Given the description of an element on the screen output the (x, y) to click on. 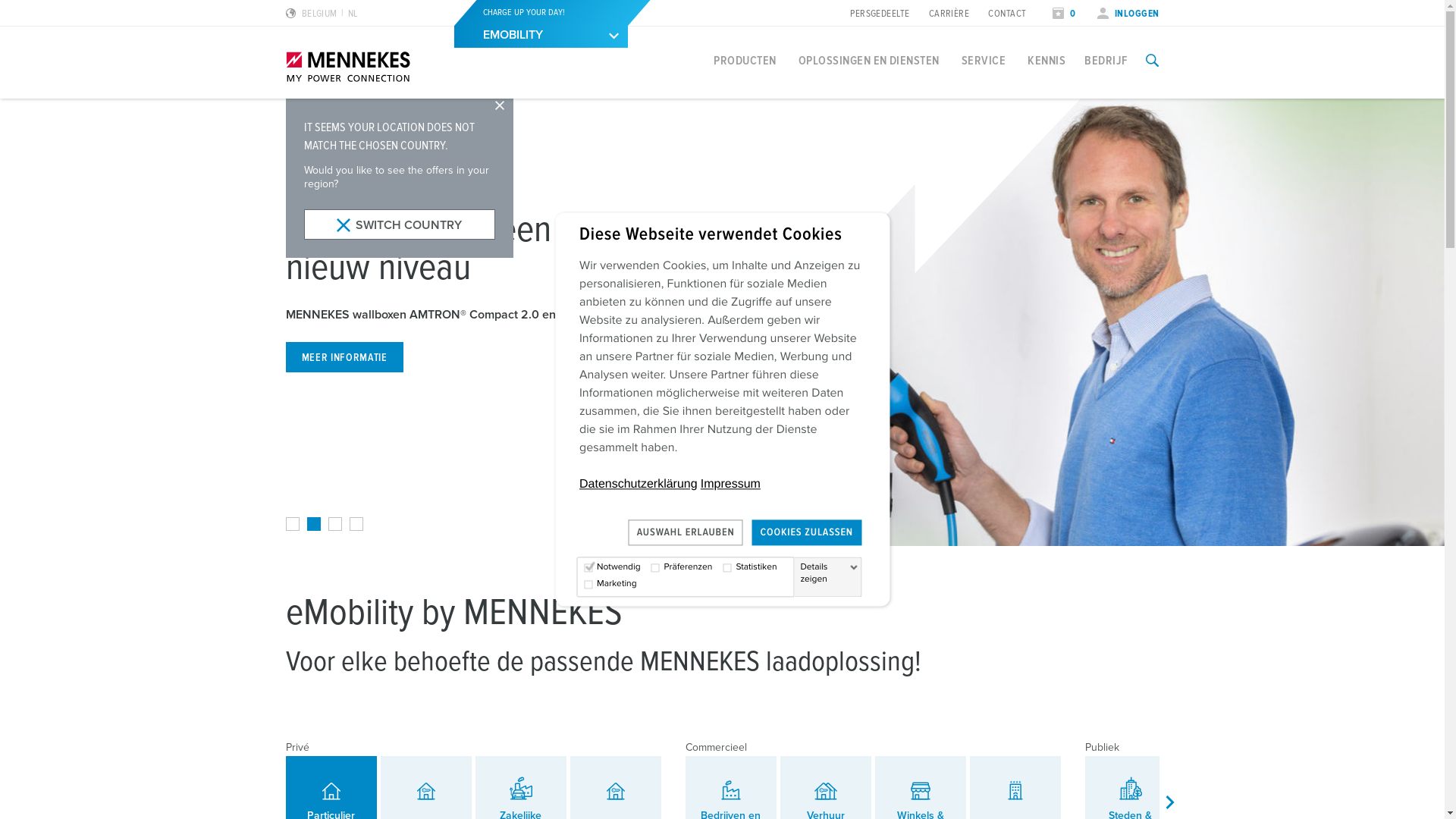
CONTACT Element type: text (1007, 13)
4 Element type: text (355, 523)
BEDRIJF Element type: text (1105, 60)
PERSGEDEELTE Element type: text (879, 13)
0 Element type: text (1063, 13)
COOKIES ZULASSEN Element type: text (806, 532)
MEER INFORMATIE Element type: text (344, 357)
SWITCH COUNTRY Element type: text (398, 224)
3 Element type: text (334, 523)
Details zeigen Element type: text (828, 573)
AUSWAHL ERLAUBEN Element type: text (685, 532)
PRODUCTEN Element type: text (744, 60)
EMOBILITY Element type: text (540, 36)
SERVICE Element type: text (983, 60)
BELGIUM NL Element type: text (321, 13)
2 Element type: text (313, 523)
Impressum Element type: text (730, 483)
INLOGGEN Element type: text (1127, 13)
1 Element type: text (291, 523)
KENNIS Element type: text (1046, 60)
OPLOSSINGEN EN DIENSTEN Element type: text (868, 60)
